Given the description of an element on the screen output the (x, y) to click on. 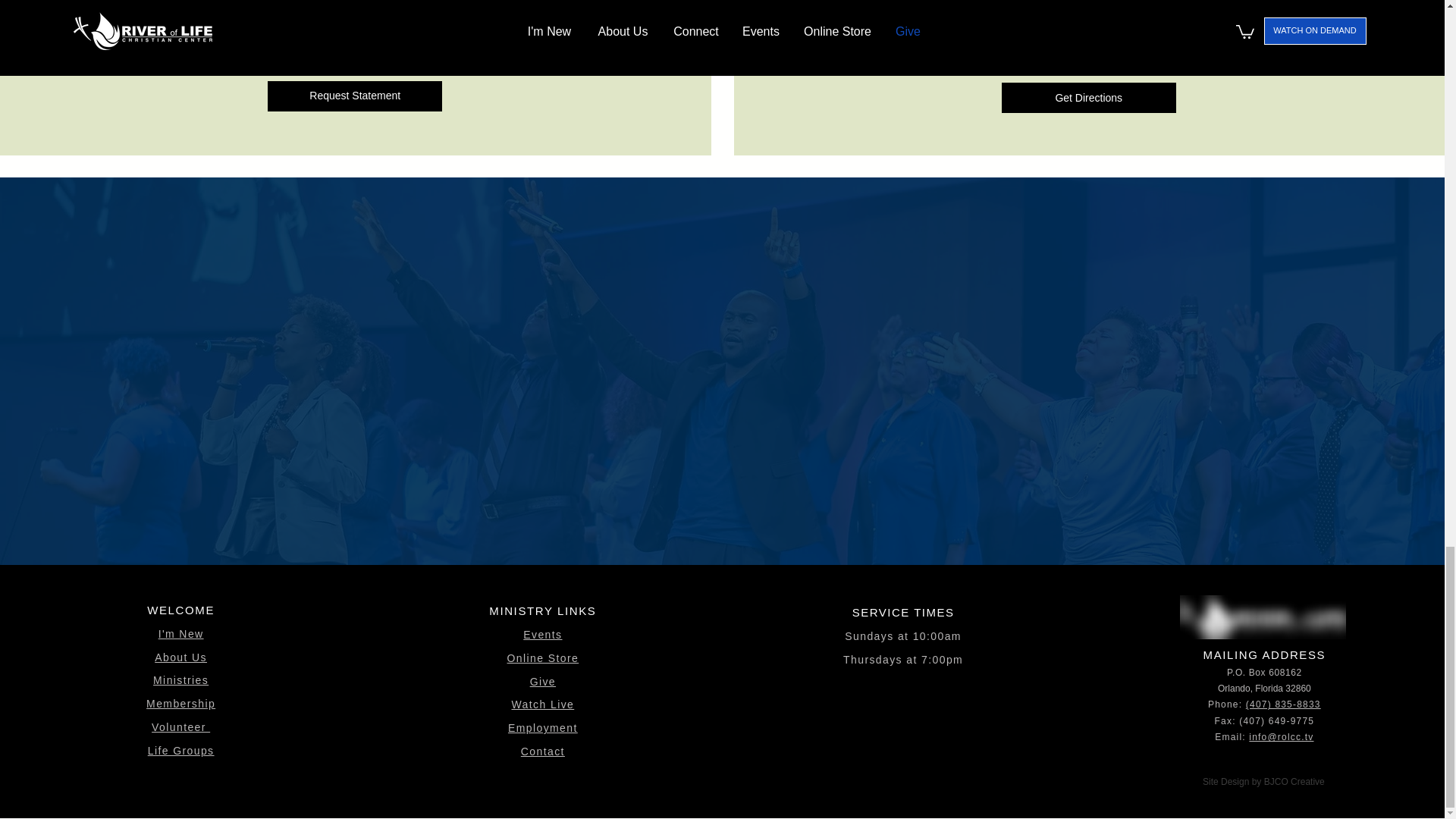
Volunteer  (180, 727)
Events (542, 634)
Give (542, 681)
Emp (520, 727)
Request Statement (354, 96)
About Us (180, 657)
loyment (555, 727)
Contact (542, 751)
Membership (181, 703)
Get Directions (1088, 97)
